Given the description of an element on the screen output the (x, y) to click on. 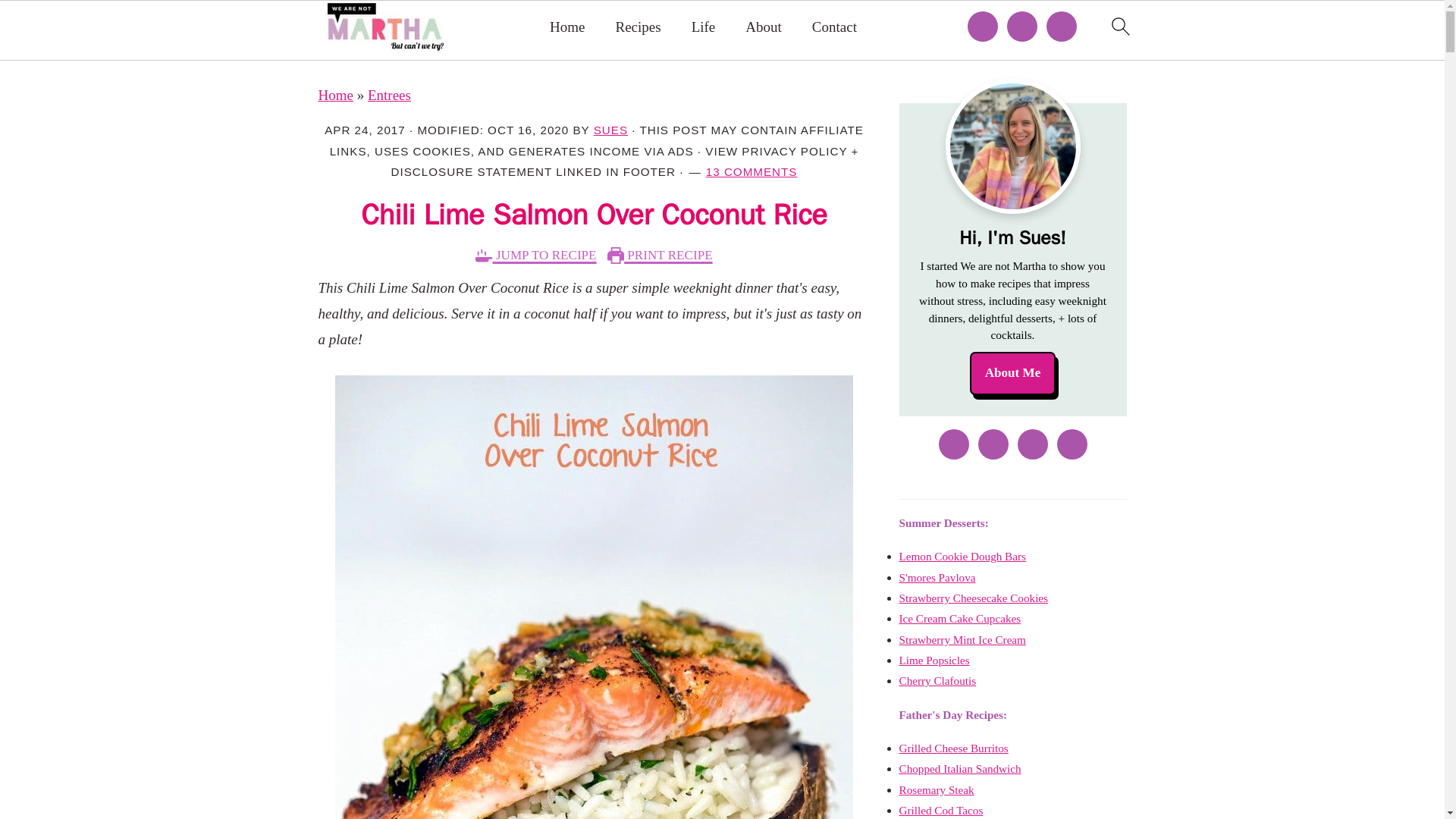
Life (703, 27)
About (763, 27)
search icon (1119, 26)
Recipes (638, 27)
Home (567, 27)
Contact (834, 27)
